Given the description of an element on the screen output the (x, y) to click on. 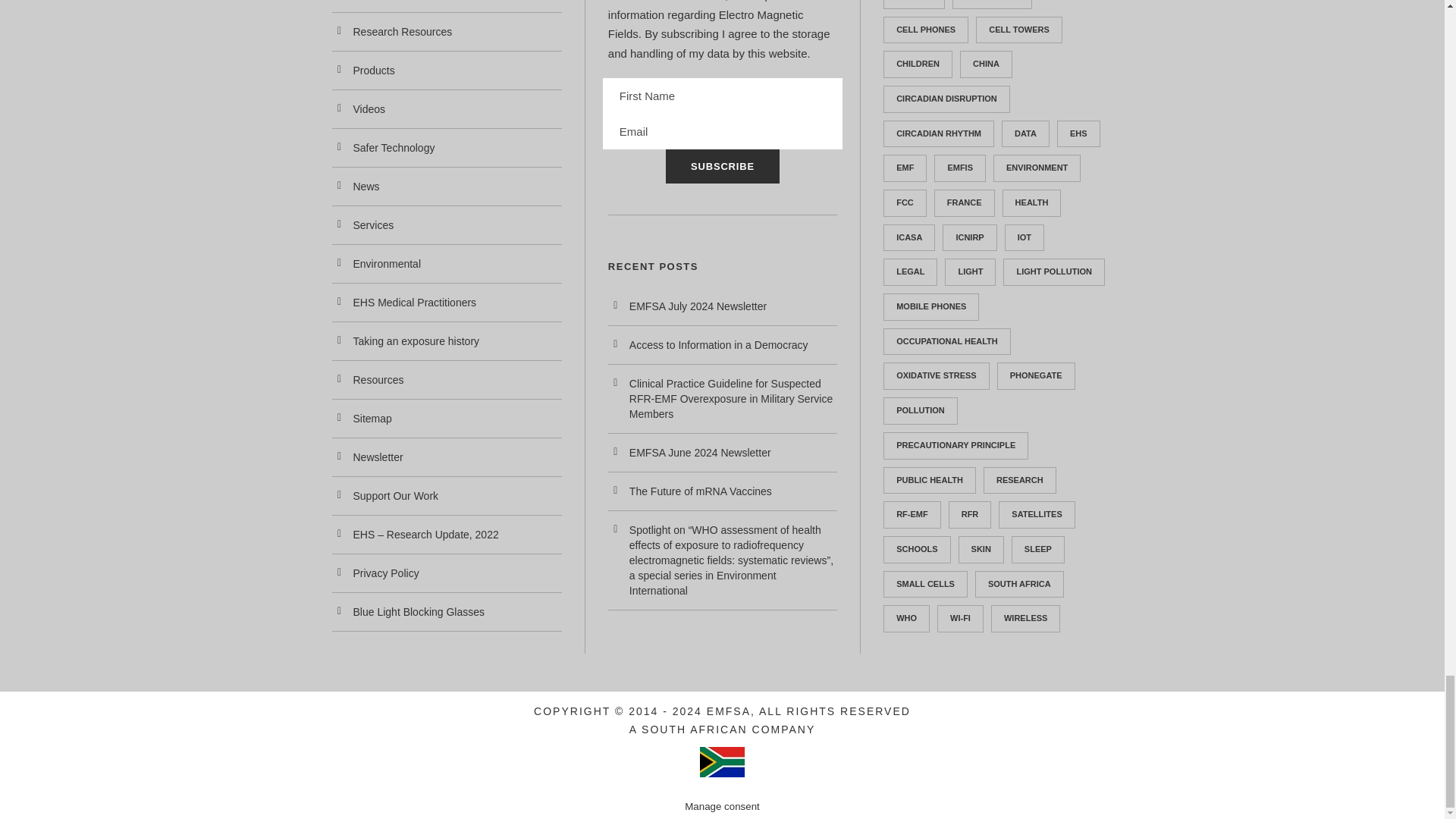
Subscribe (721, 166)
